Given the description of an element on the screen output the (x, y) to click on. 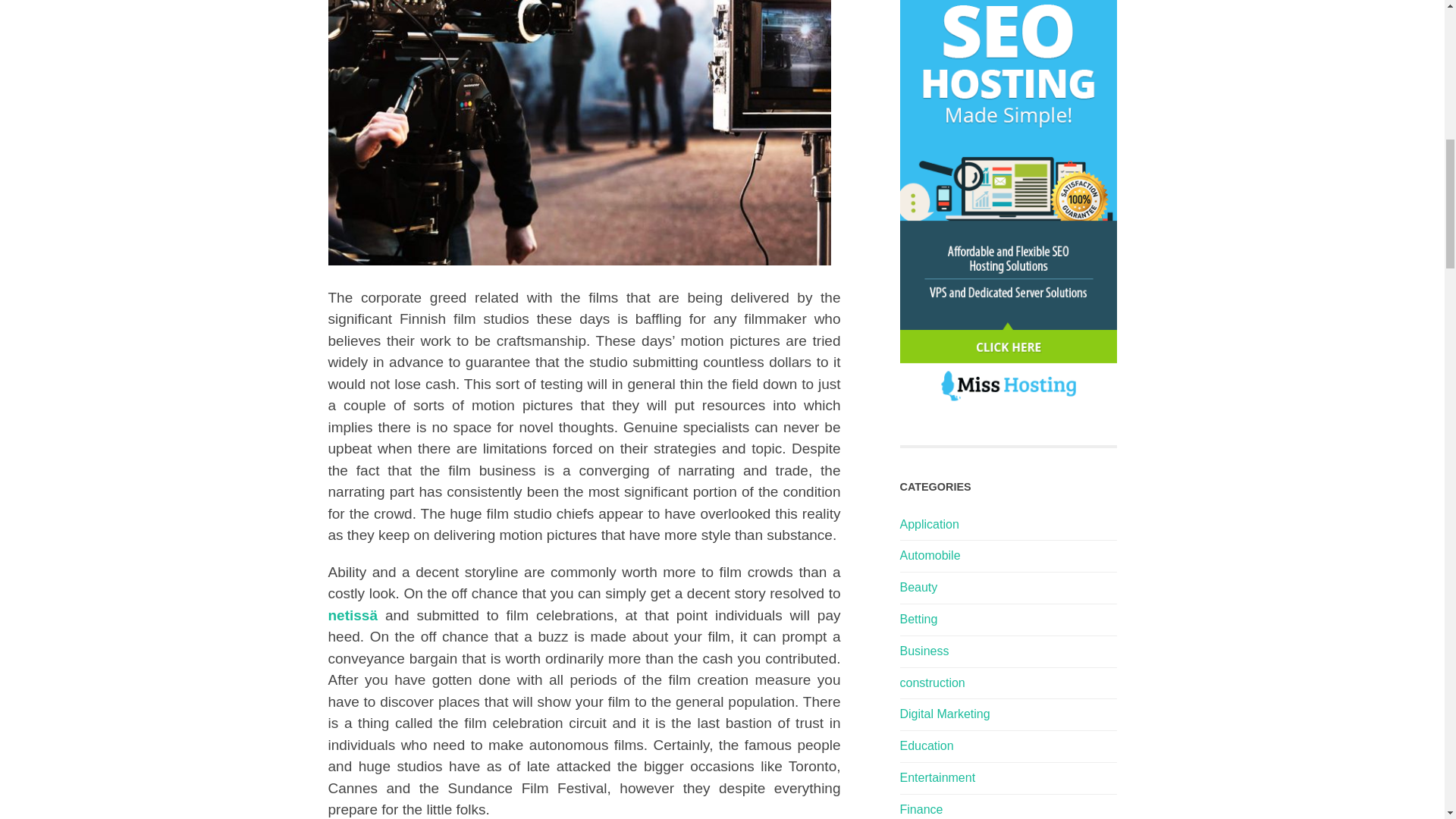
construction (931, 682)
Application (928, 523)
Business (924, 650)
Education (926, 745)
Entertainment (937, 777)
Digital Marketing (944, 713)
Finance (920, 809)
Beauty (918, 586)
Automobile (929, 554)
Betting (918, 618)
